Given the description of an element on the screen output the (x, y) to click on. 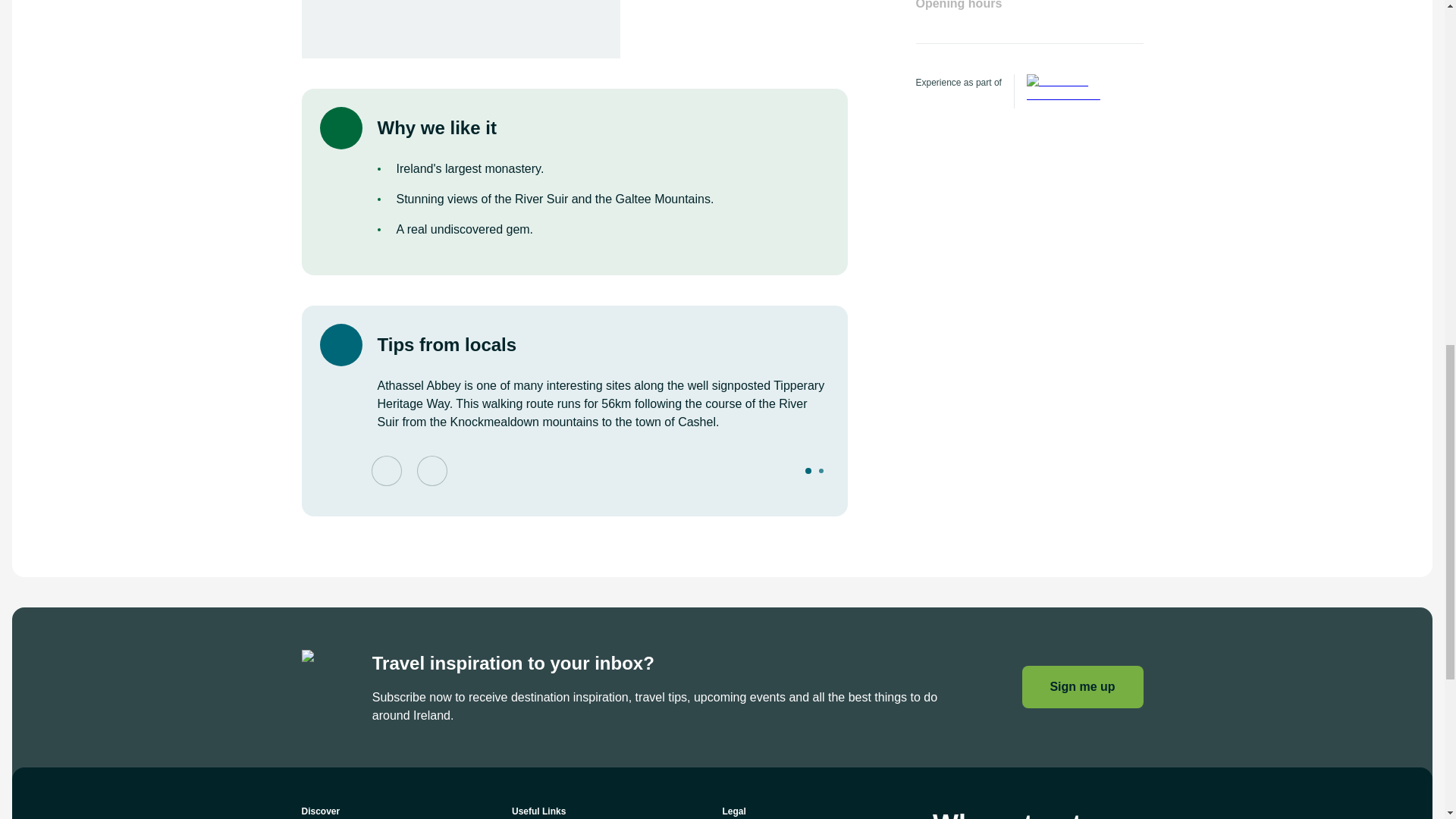
Select image 1 (807, 470)
Next (431, 470)
Get directions on Google Maps (460, 29)
Select image 1 (807, 470)
Previous (386, 470)
Previous (386, 470)
Next (431, 470)
